Given the description of an element on the screen output the (x, y) to click on. 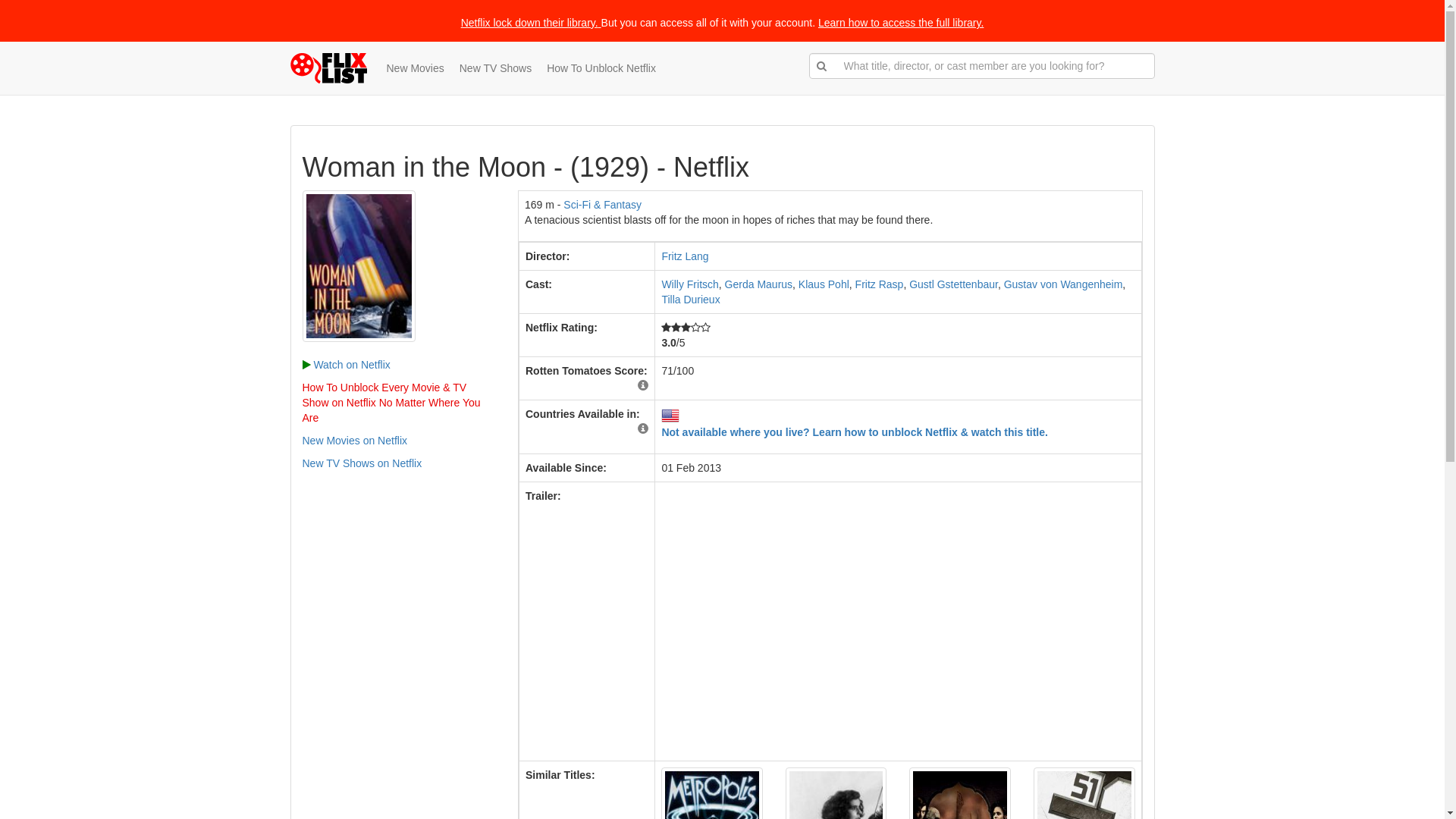
Watch on Netflix Element type: text (345, 364)
Netflix lock down their library. Element type: text (529, 22)
Gustav von Wangenheim Element type: text (1063, 284)
Woman in the Moon Element type: hover (357, 266)
Gustl Gstettenbaur Element type: text (953, 284)
How To Unblock Netflix Element type: text (601, 67)
Sci-Fi & Fantasy Element type: text (602, 204)
New Movies Element type: text (415, 67)
Willy Fritsch Element type: text (689, 284)
US Element type: hover (670, 415)
Gerda Maurus Element type: text (758, 284)
Klaus Pohl Element type: text (823, 284)
New Movies on Netflix Element type: text (354, 440)
Fritz Rasp Element type: text (879, 284)
Learn how to access the full library. Element type: text (900, 22)
New TV Shows on Netflix Element type: text (361, 463)
New TV Shows Element type: text (495, 67)
Fritz Lang Element type: text (684, 256)
Tilla Durieux Element type: text (690, 299)
